Given the description of an element on the screen output the (x, y) to click on. 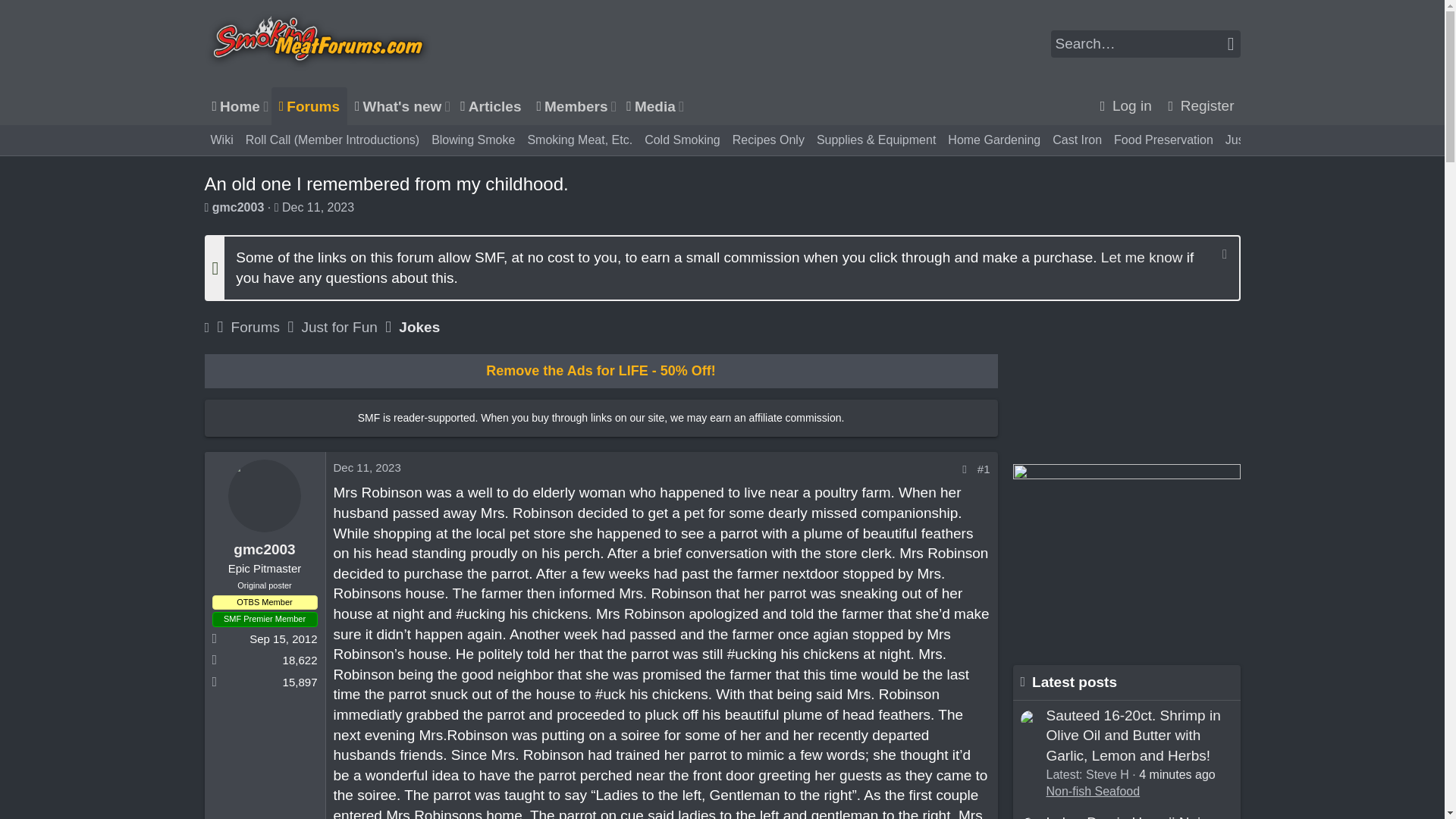
Home (233, 105)
Forums (308, 105)
Dec 11, 2023 at 11:14 AM (446, 105)
What's new (367, 467)
Dec 11, 2023 at 11:14 AM (394, 105)
